Given the description of an element on the screen output the (x, y) to click on. 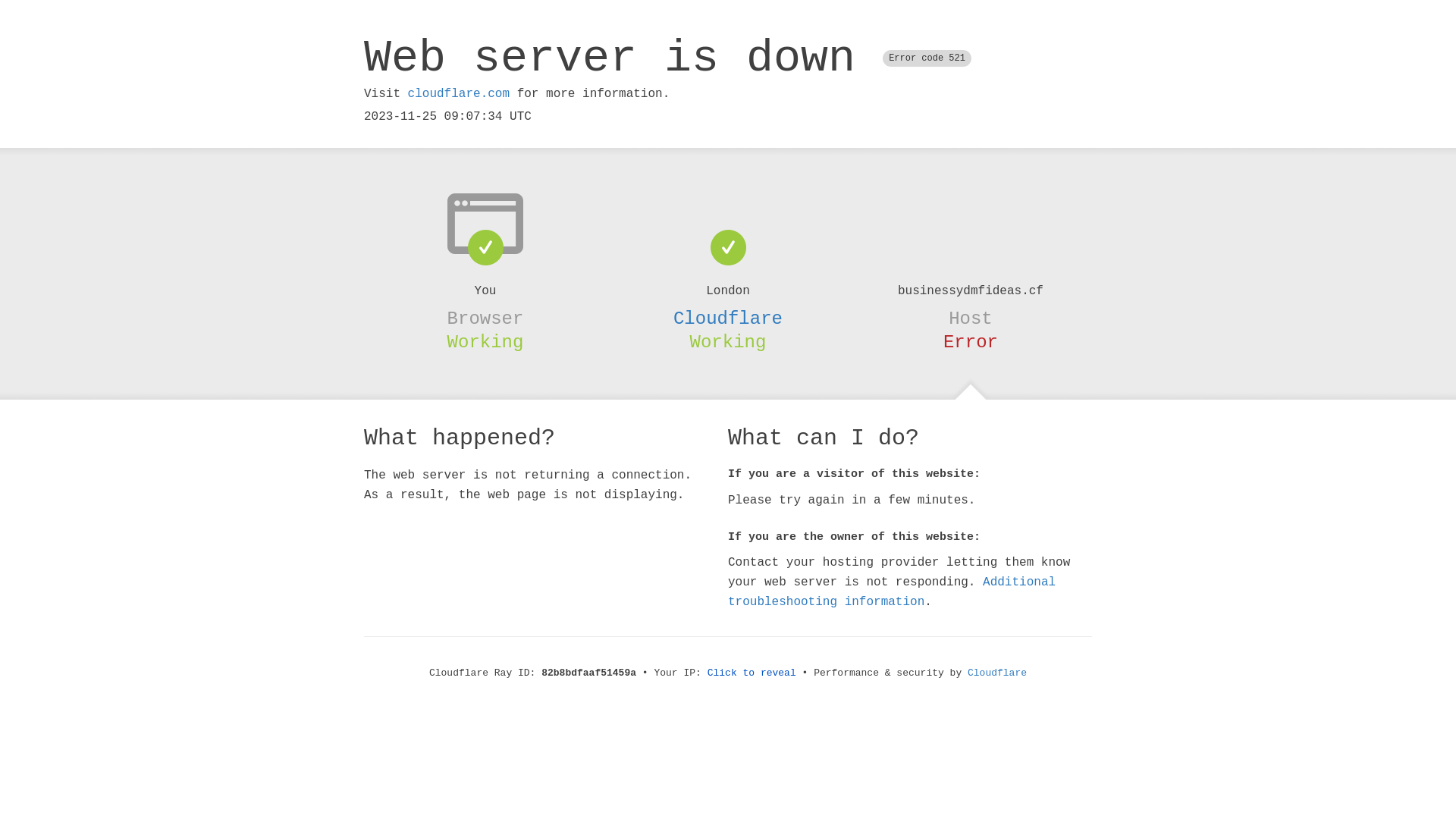
cloudflare.com Element type: text (458, 93)
Cloudflare Element type: text (996, 672)
Cloudflare Element type: text (727, 318)
Click to reveal Element type: text (751, 672)
Additional troubleshooting information Element type: text (891, 591)
